Given the description of an element on the screen output the (x, y) to click on. 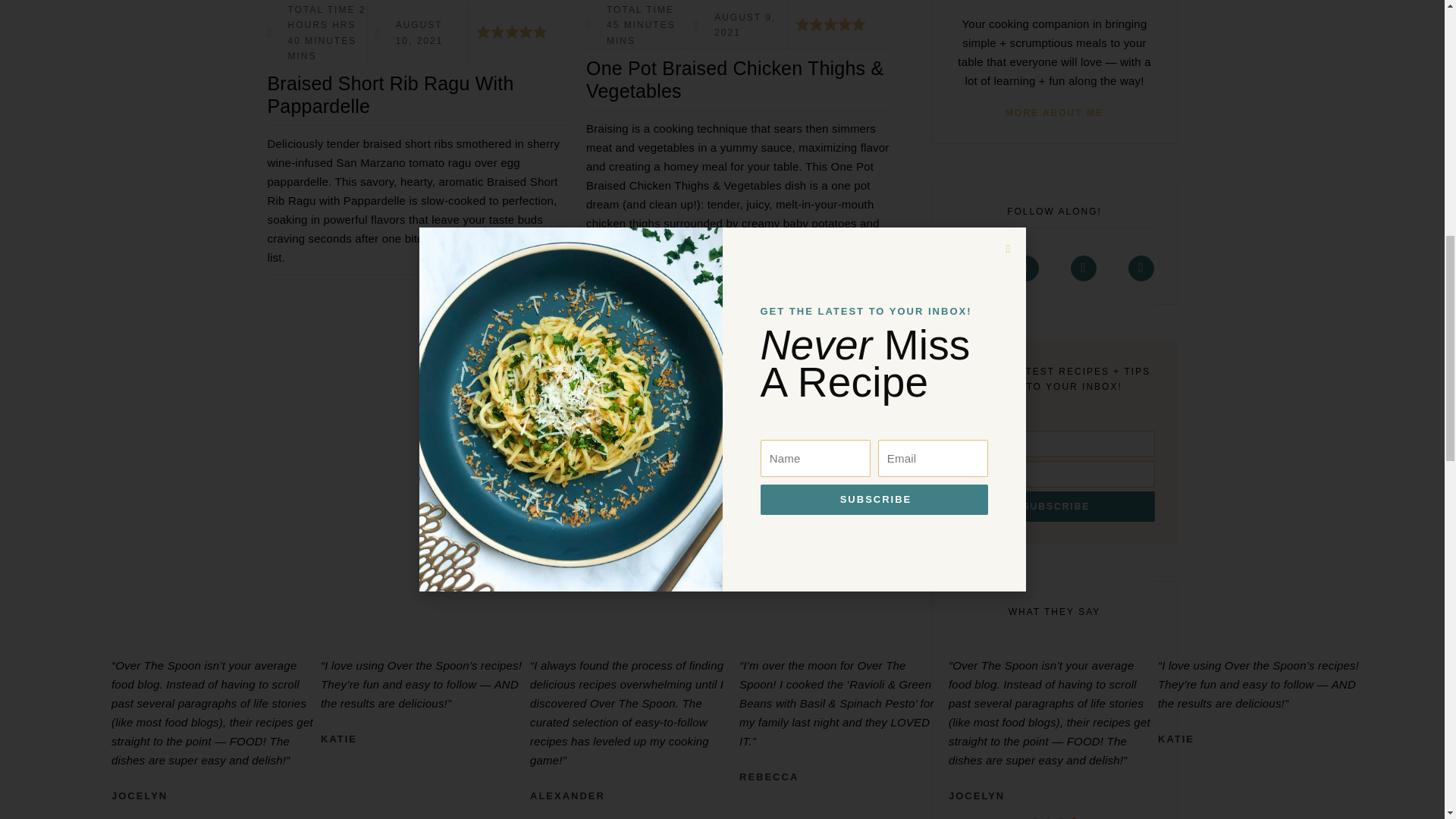
AUGUST 10, 2021 (417, 32)
TOTAL TIME 2 HOURS HRS 40 MINUTES MINS (316, 33)
TOTAL TIME 45 MINUTES MINS (635, 25)
Braised Short Rib Ragu With Pappardelle (418, 95)
SUBSCRIBE (1053, 476)
WHAT THEY SAY (1054, 621)
AUGUST 9, 2021 (736, 24)
MORE ABOUT ME (1054, 110)
FOLLOW ALONG! (1054, 221)
